Given the description of an element on the screen output the (x, y) to click on. 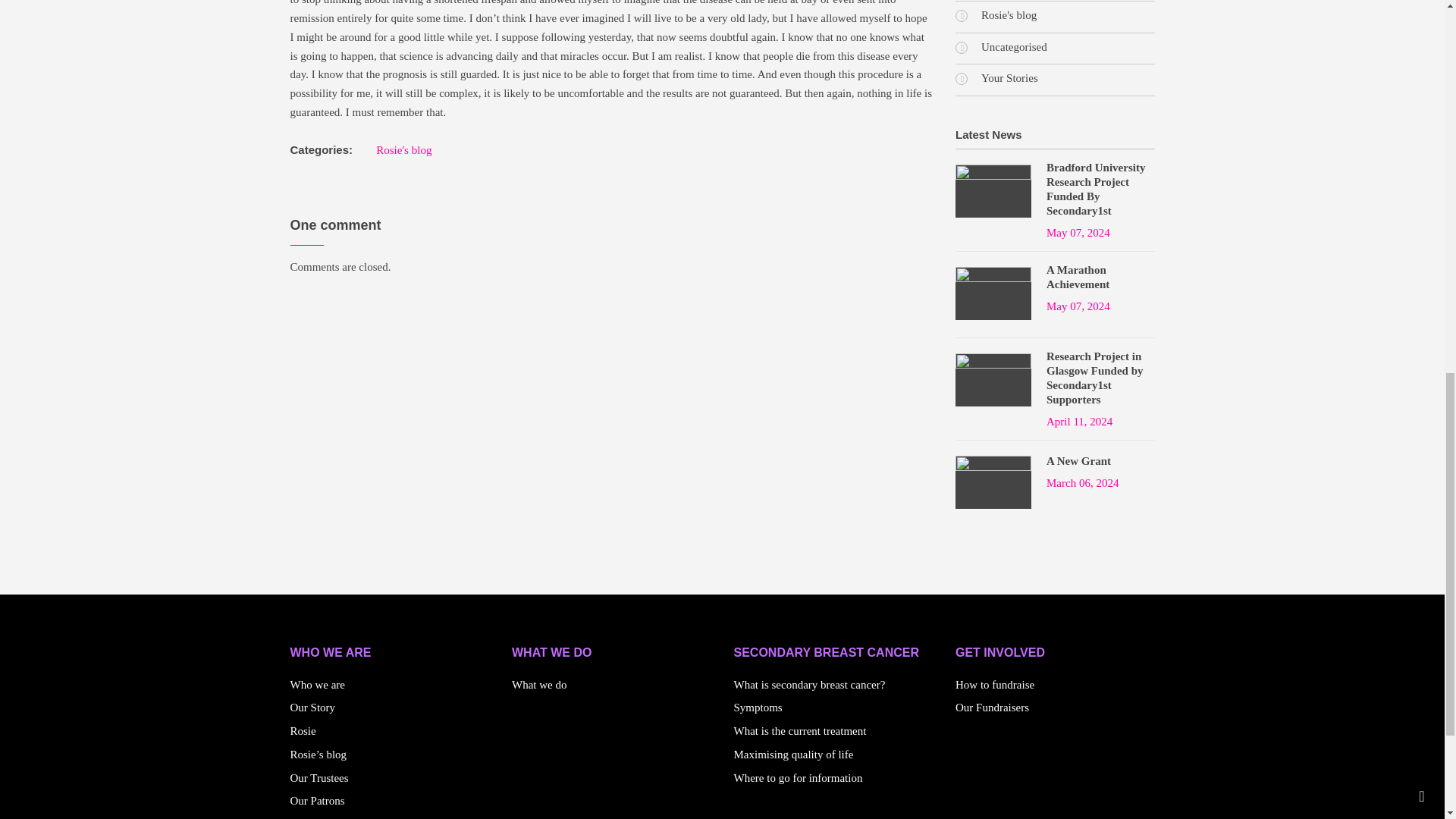
Permalink to A New Grant (1078, 461)
Permalink to A Marathon Achievement (1100, 276)
